Given the description of an element on the screen output the (x, y) to click on. 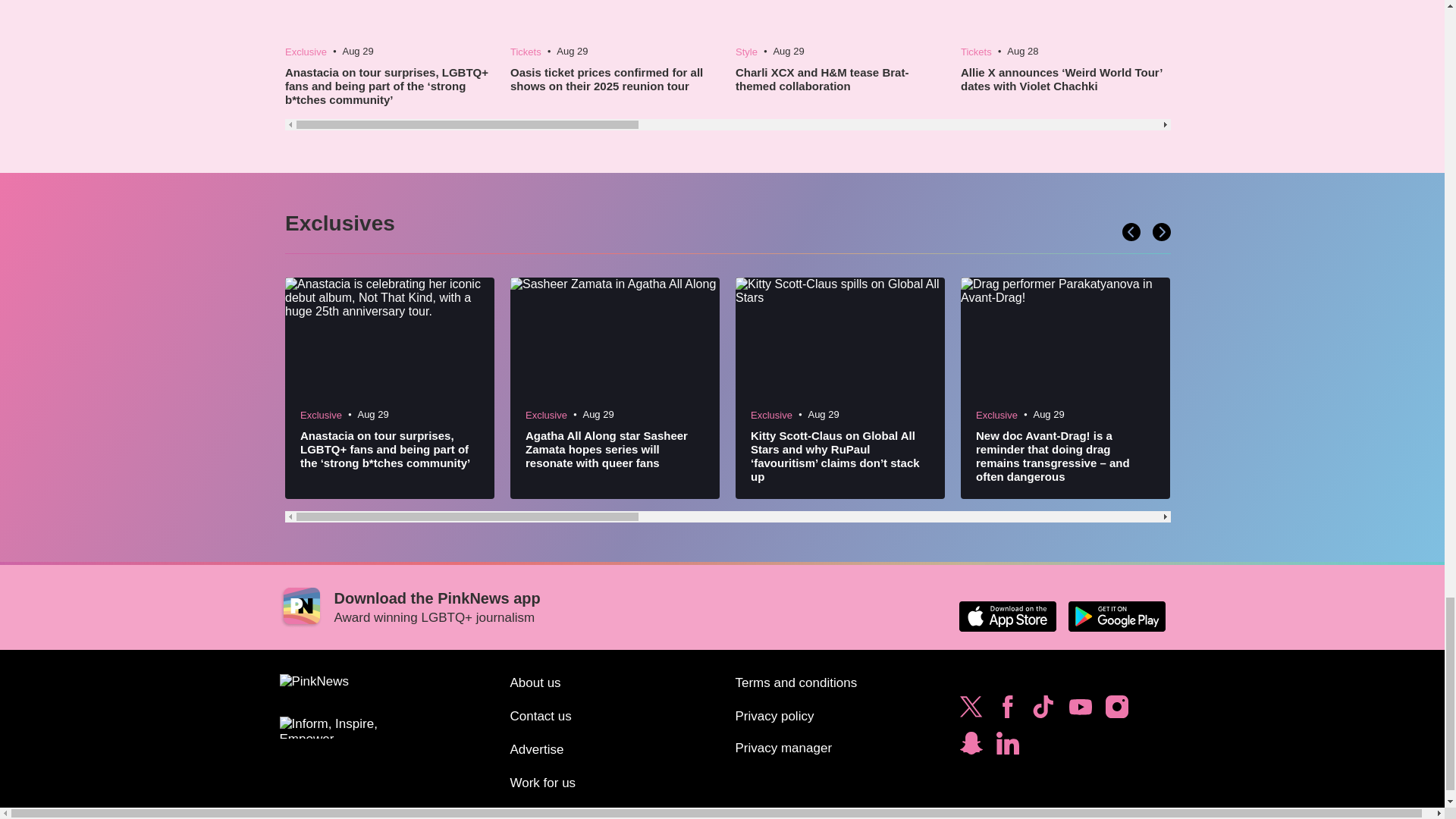
Subscribe to PinkNews on YouTube (1079, 710)
Follow PinkNews on LinkedIn (1007, 746)
Follow PinkNews on TikTok (1042, 710)
Download the PinkNews app on the Apple App Store (1006, 616)
Follow PinkNews on Twitter (970, 710)
Follow PinkNews on Instagram (1116, 710)
Download the PinkNews app on Google Play (1115, 616)
Subscribe to PinkNews on Snapchat (970, 746)
